Given the description of an element on the screen output the (x, y) to click on. 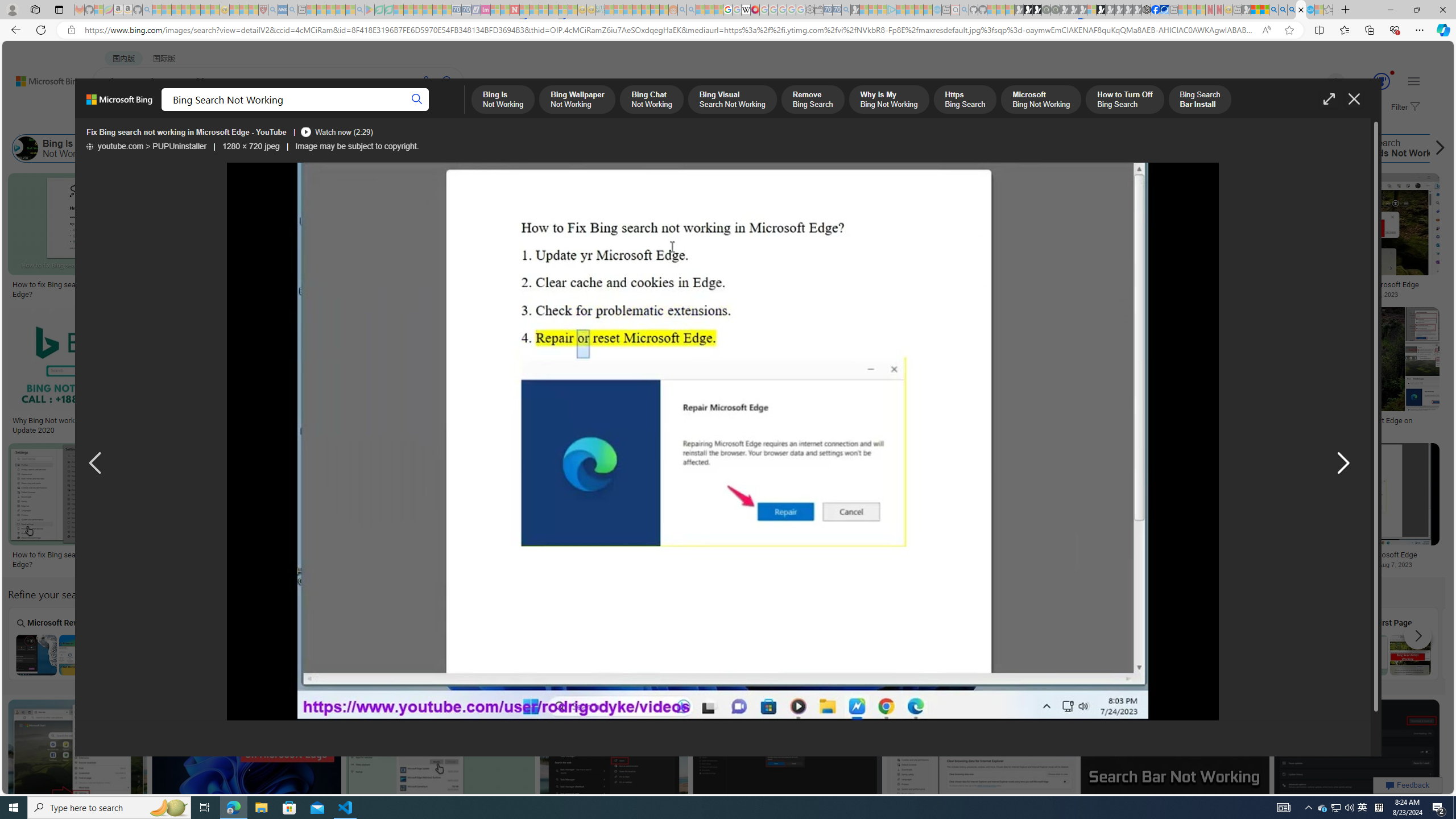
Settings - Sleeping (809, 9)
Properly (569, 643)
Work (1286, 643)
github - Search - Sleeping (964, 9)
Engine (1184, 643)
Bing Video Search Not Working (876, 655)
Search button (417, 99)
2:29 (1280, 453)
